Given the description of an element on the screen output the (x, y) to click on. 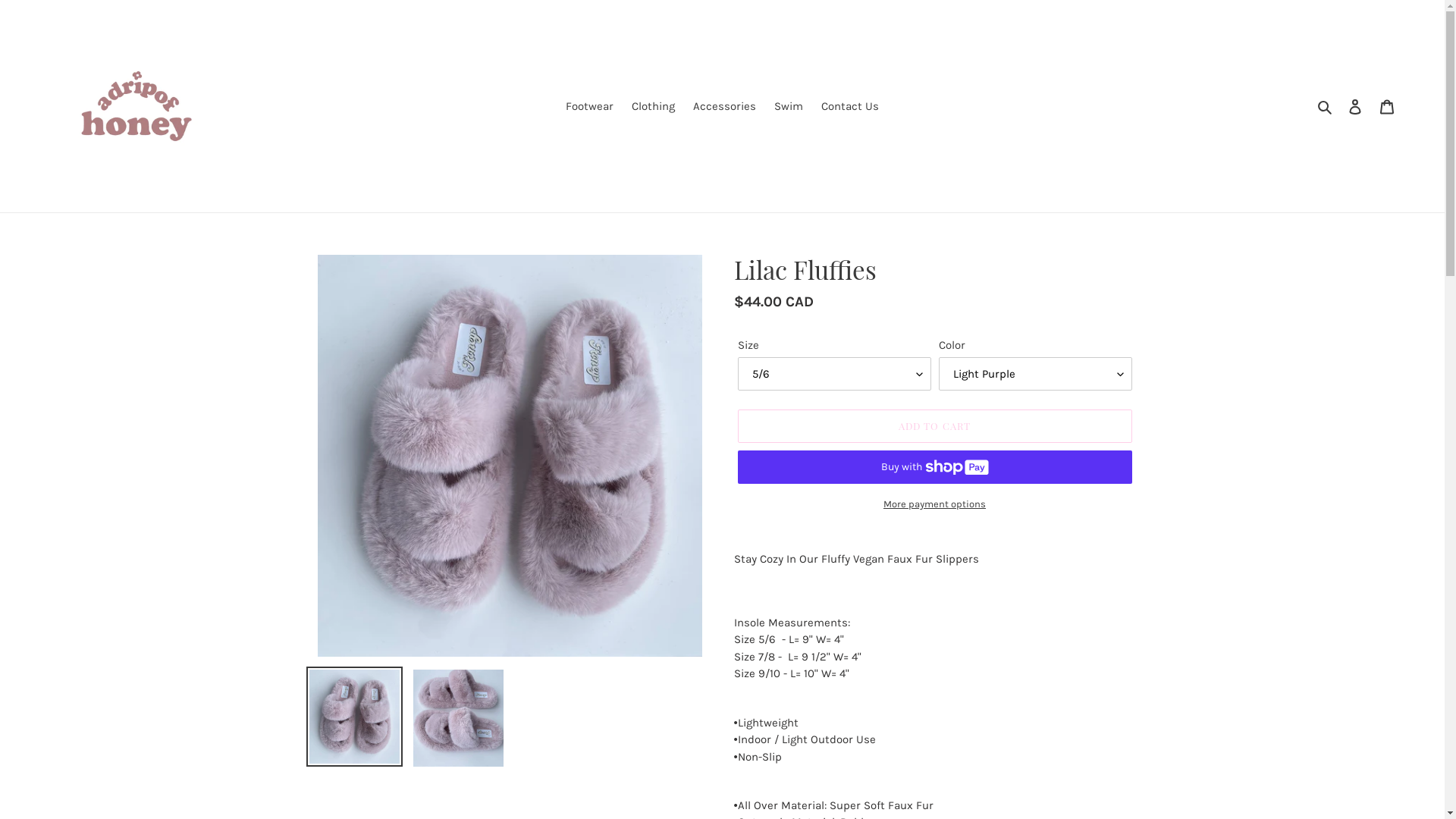
Accessories Element type: text (724, 106)
ADD TO CART Element type: text (934, 425)
Contact Us Element type: text (849, 106)
Cart Element type: text (1386, 106)
Log in Element type: text (1355, 106)
Clothing Element type: text (653, 106)
Swim Element type: text (788, 106)
Search Element type: text (1325, 106)
More payment options Element type: text (934, 503)
Footwear Element type: text (589, 106)
